Given the description of an element on the screen output the (x, y) to click on. 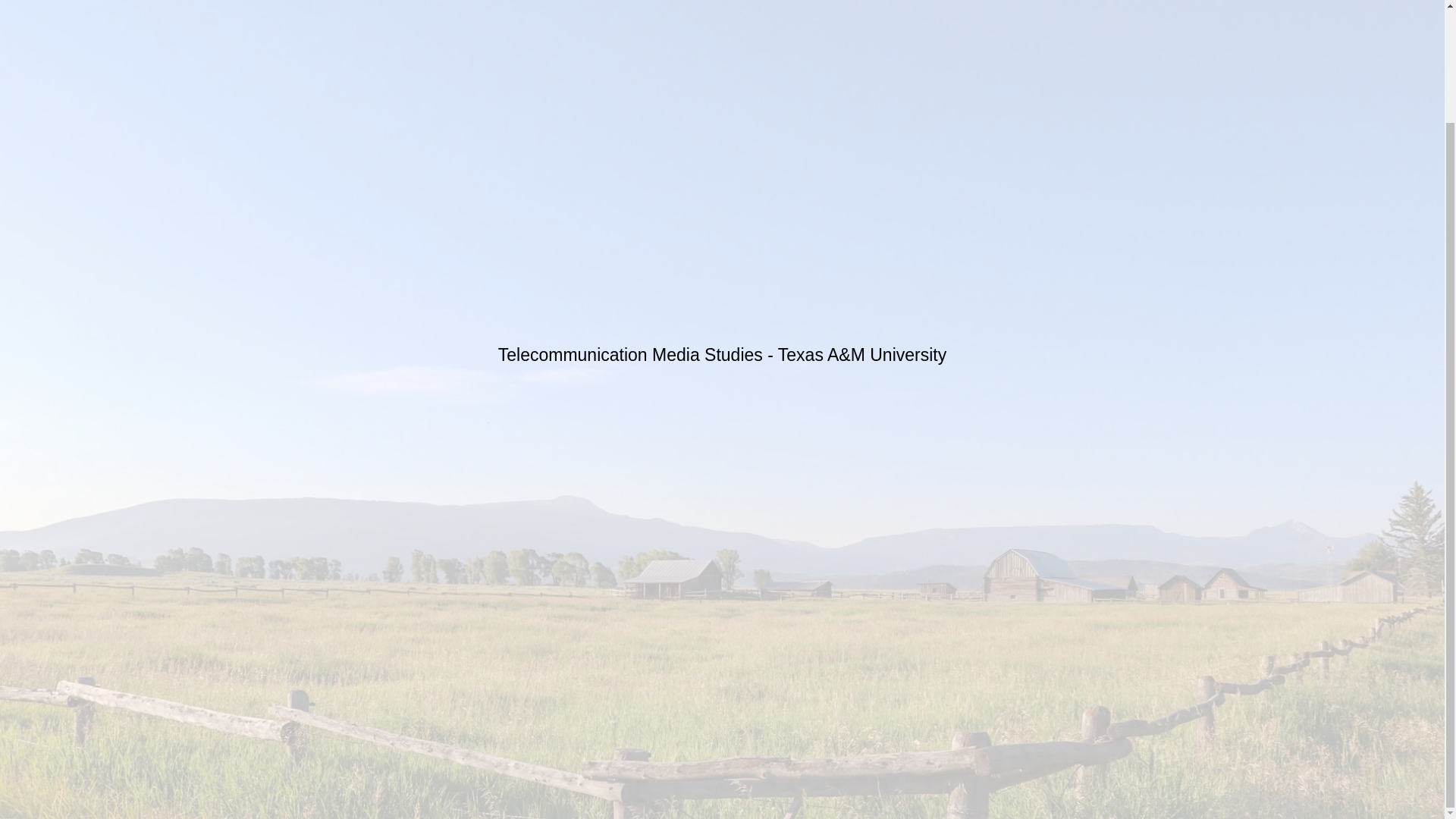
communication  (590, 354)
Tele (513, 354)
Media Studies (707, 354)
